Given the description of an element on the screen output the (x, y) to click on. 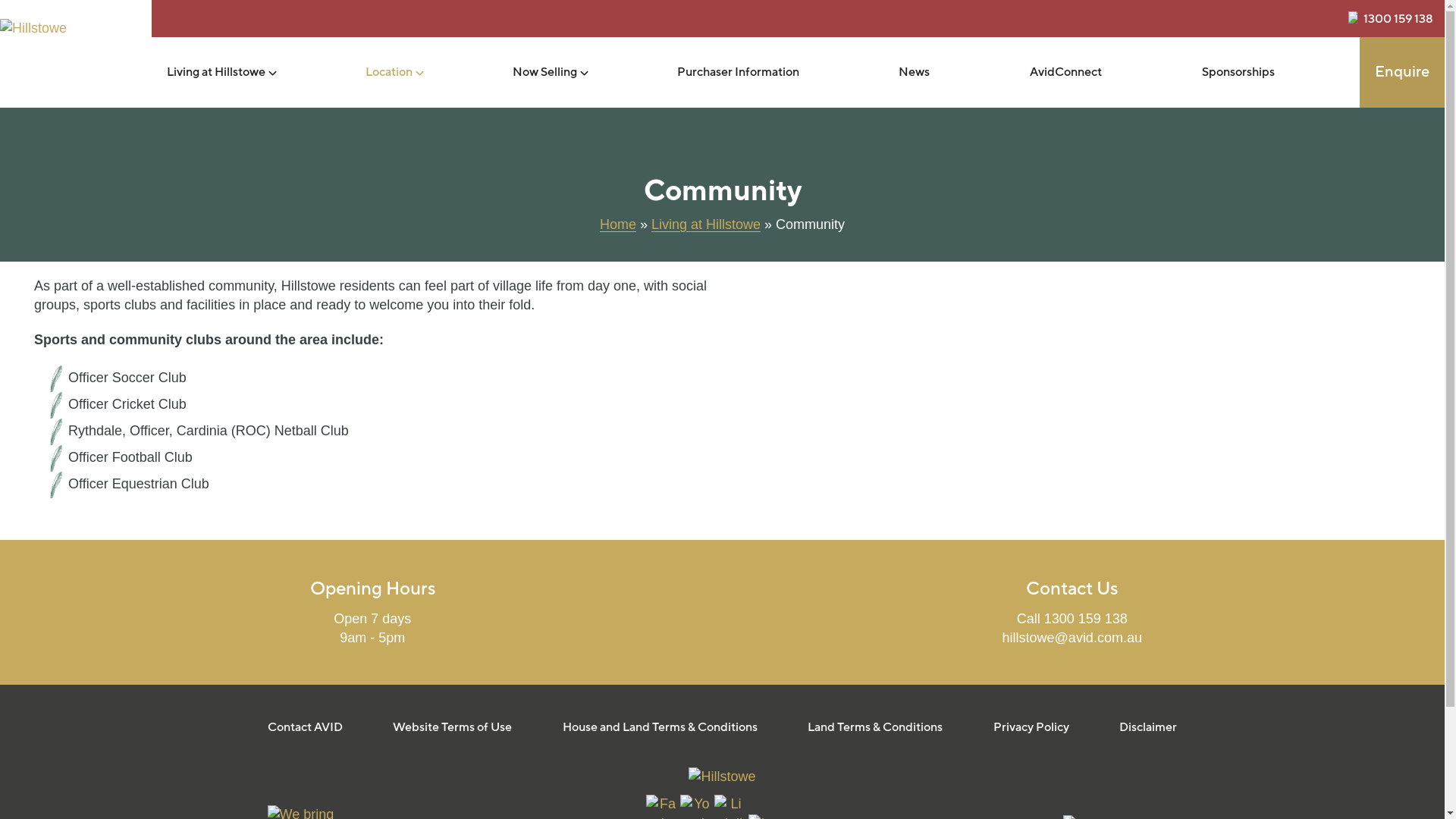
Living at Hillstowe Element type: text (705, 224)
Land Terms & Conditions Element type: text (874, 726)
Living at Hillstowe Element type: text (215, 72)
1300 159 138 Element type: text (1398, 18)
Contact AVID Element type: text (304, 726)
News Element type: text (913, 72)
Website Terms of Use Element type: text (451, 726)
hillstowe@avid.com.au Element type: text (1072, 637)
Disclaimer Element type: text (1147, 726)
Now Selling Element type: text (544, 72)
Purchaser Information Element type: text (738, 72)
1300 159 138 Element type: text (1085, 618)
Location Element type: text (388, 72)
Enquire Element type: text (1401, 72)
AvidConnect Element type: text (1065, 72)
Sponsorships Element type: text (1237, 72)
Home Element type: text (617, 224)
Privacy Policy Element type: text (1031, 726)
House and Land Terms & Conditions Element type: text (659, 726)
